Given the description of an element on the screen output the (x, y) to click on. 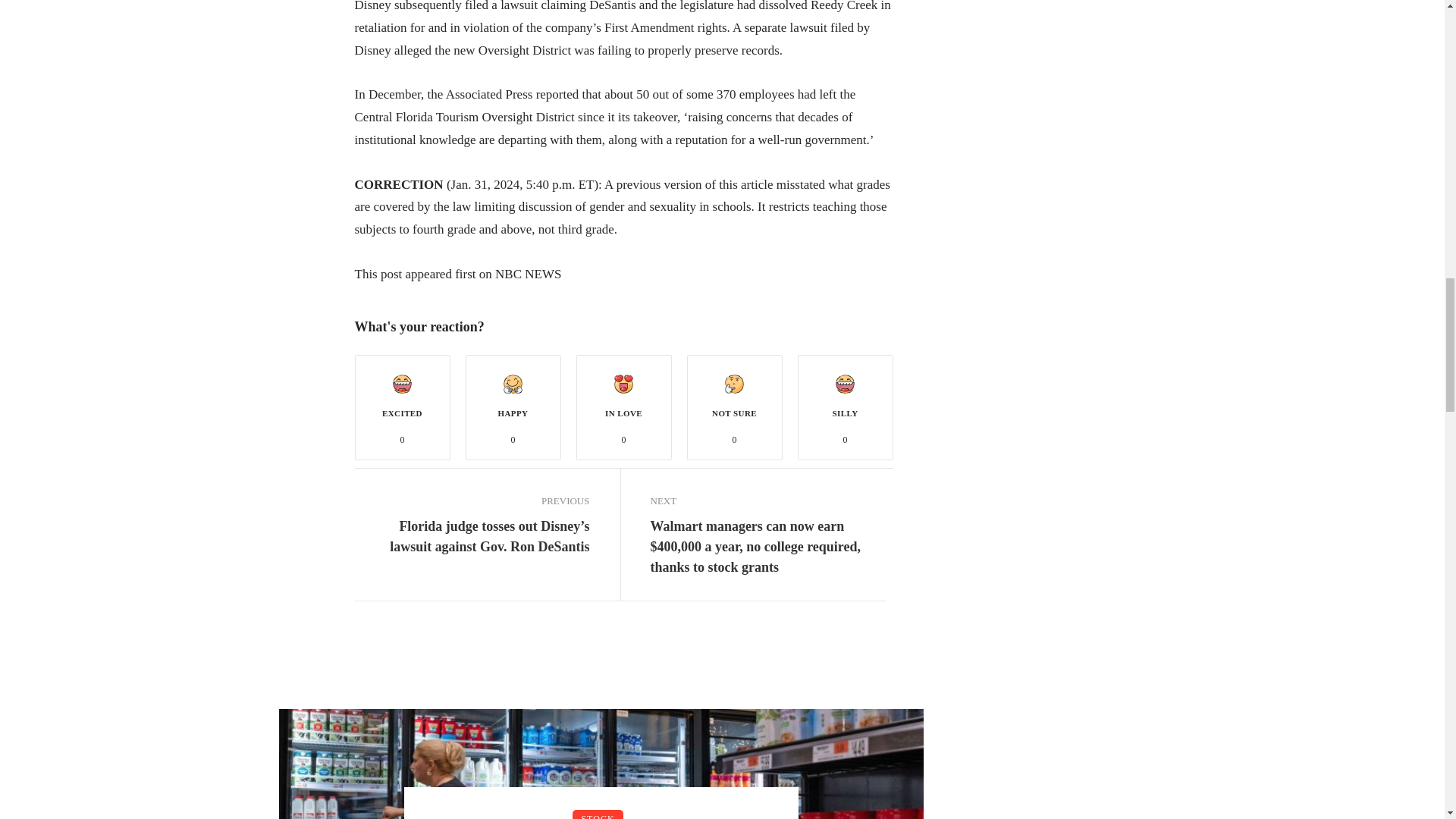
NEXT (767, 501)
PREVIOUS (472, 501)
STOCK (597, 814)
